Given the description of an element on the screen output the (x, y) to click on. 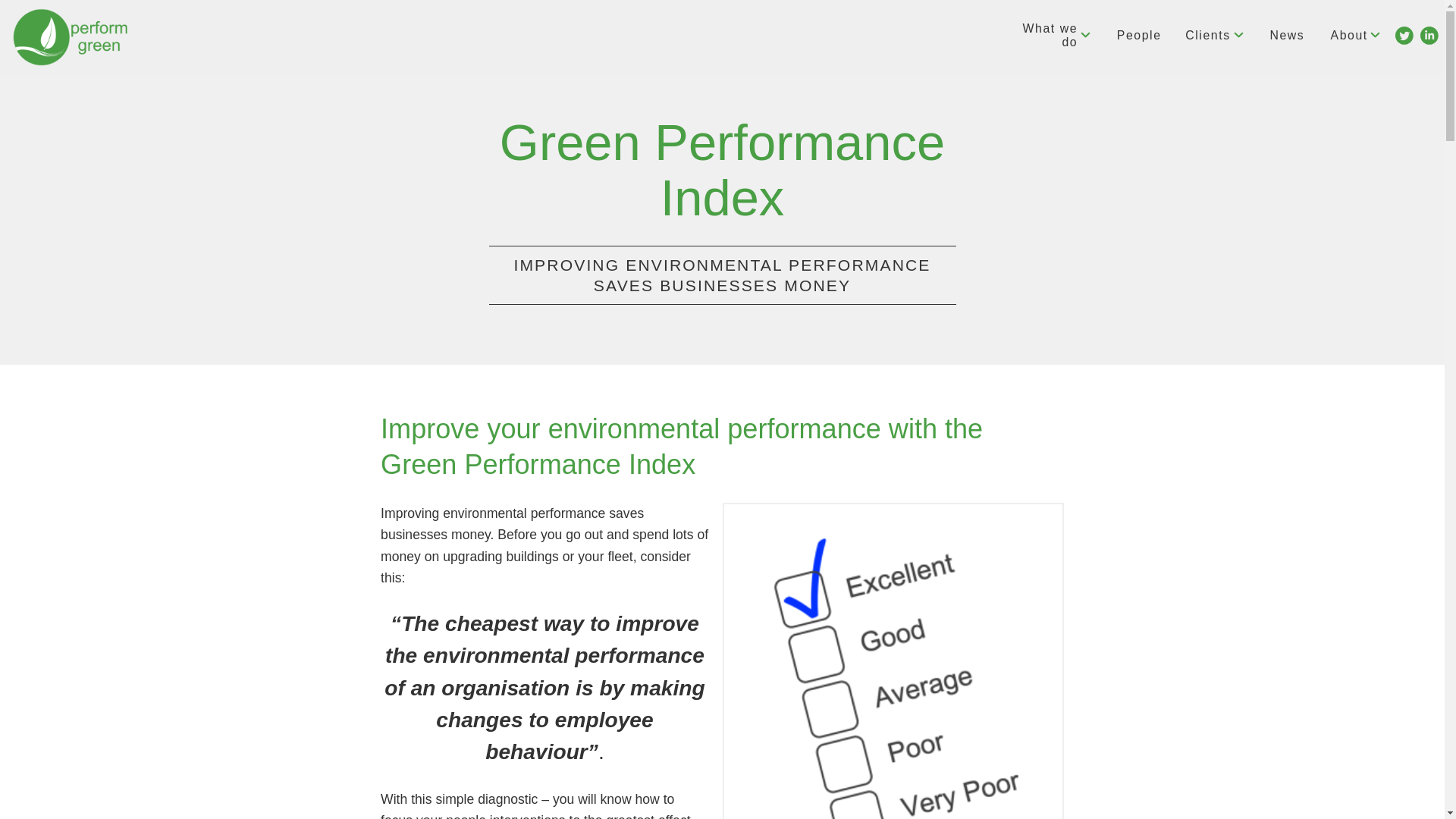
What we do (1046, 36)
About (1356, 36)
Clients (1215, 36)
People (1139, 36)
